Given the description of an element on the screen output the (x, y) to click on. 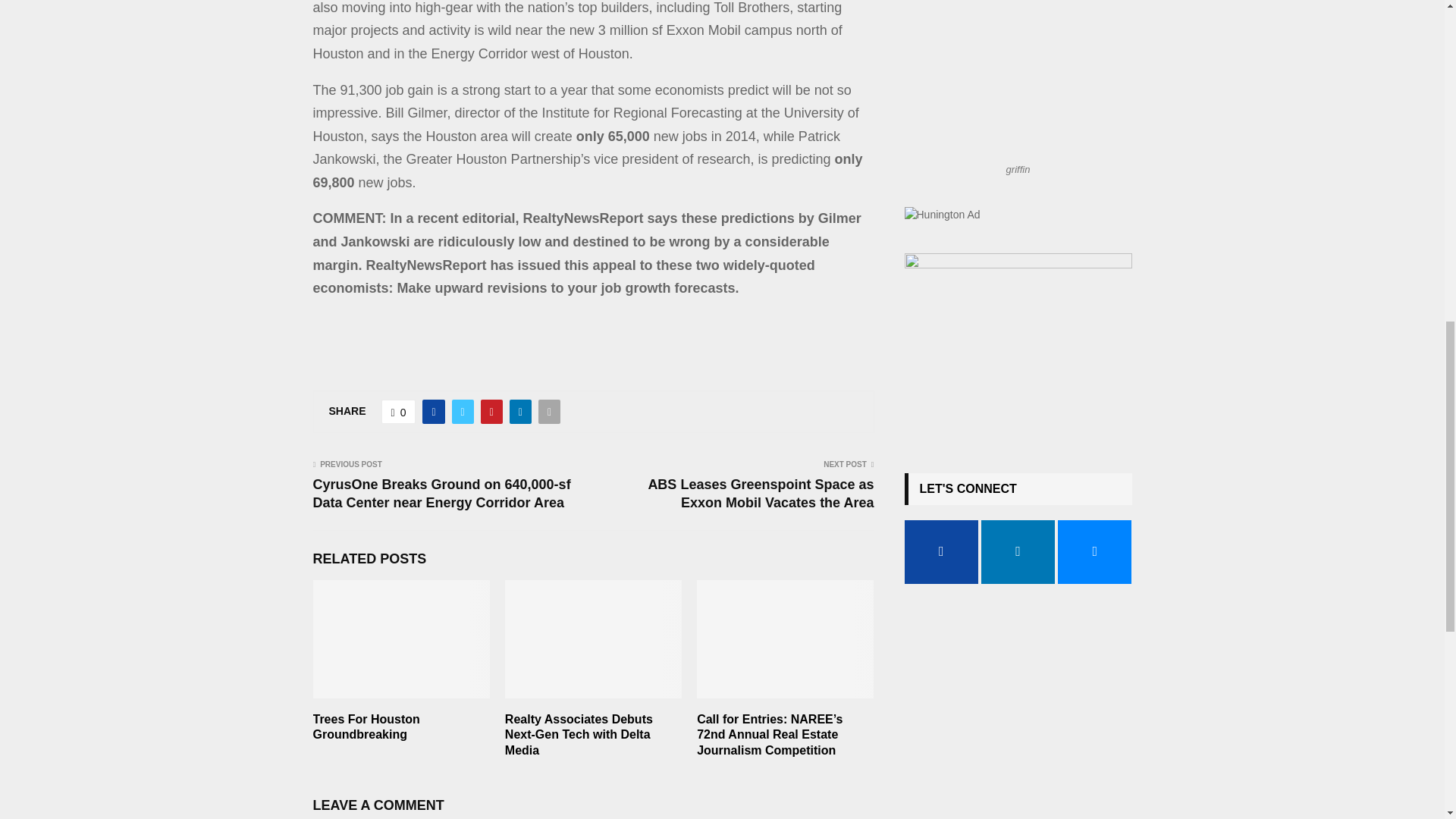
Like (398, 411)
